Given the description of an element on the screen output the (x, y) to click on. 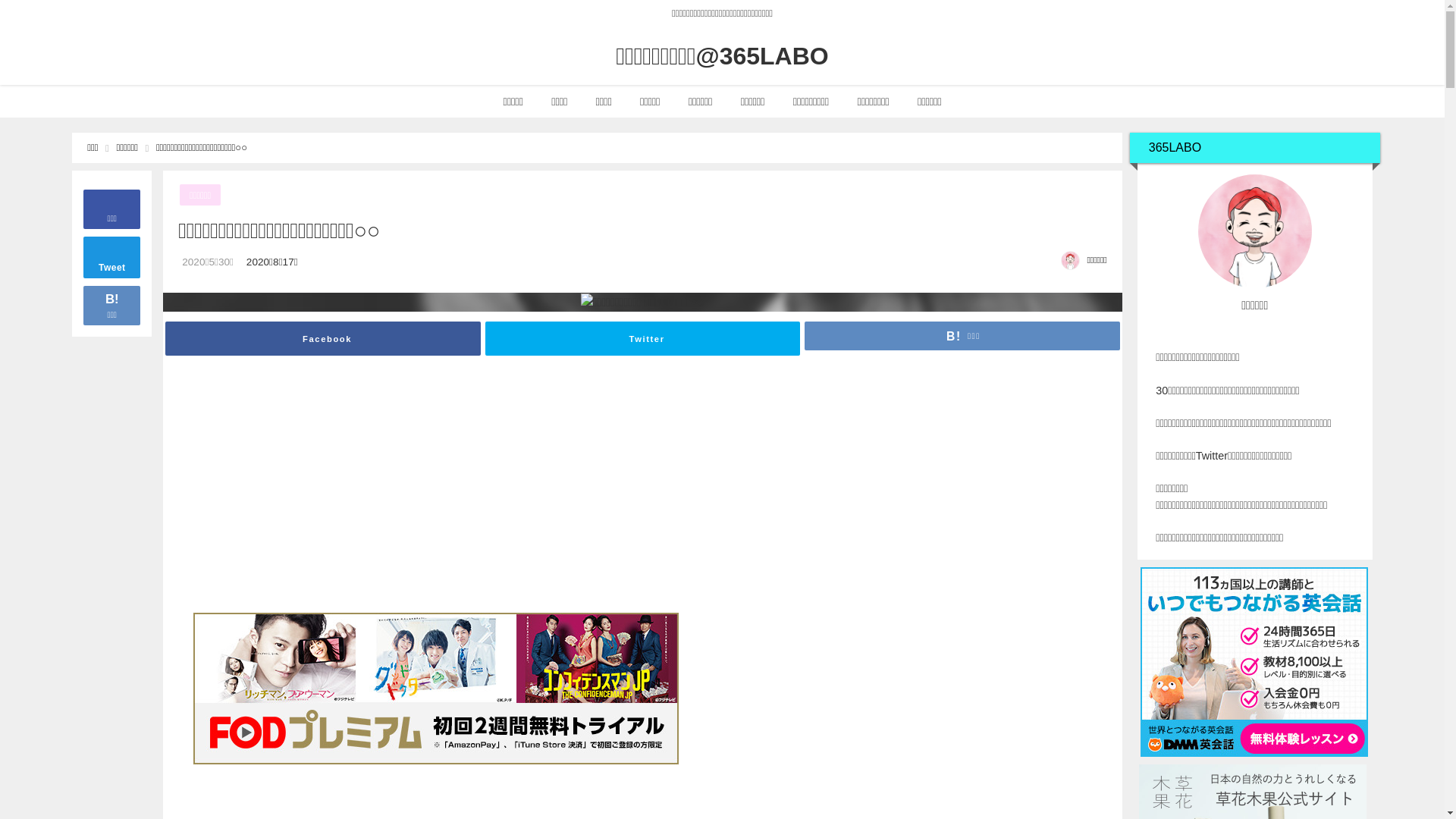
Advertisement Element type: hover (417, 491)
Tweet Element type: text (111, 257)
Facebook Element type: text (322, 338)
Advertisement Element type: hover (867, 491)
Twitter Element type: text (642, 338)
